Given the description of an element on the screen output the (x, y) to click on. 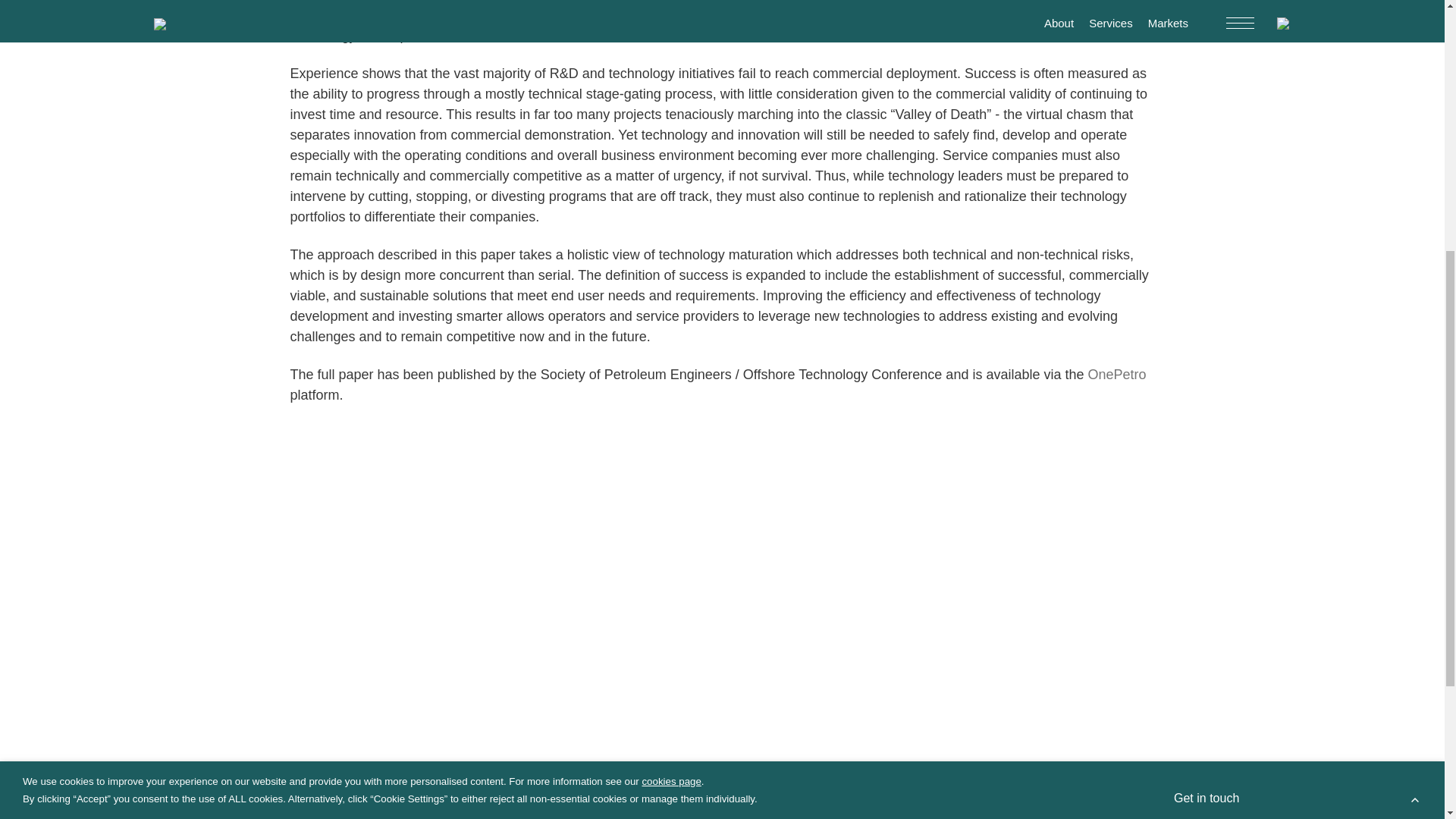
About (307, 178)
Great Burgh, UK (1033, 182)
Leatherhead Food Research (361, 233)
Science Group (354, 213)
OnePetro (1116, 374)
Services (363, 178)
TSG Consulting (487, 233)
Science Group (334, 158)
TP Group (470, 248)
Osprey (311, 263)
Markets (423, 178)
Washington DC, USA (1098, 197)
Cambridge, UK (936, 182)
Frontier Smart Technologies (359, 248)
CMS2 (529, 248)
